Given the description of an element on the screen output the (x, y) to click on. 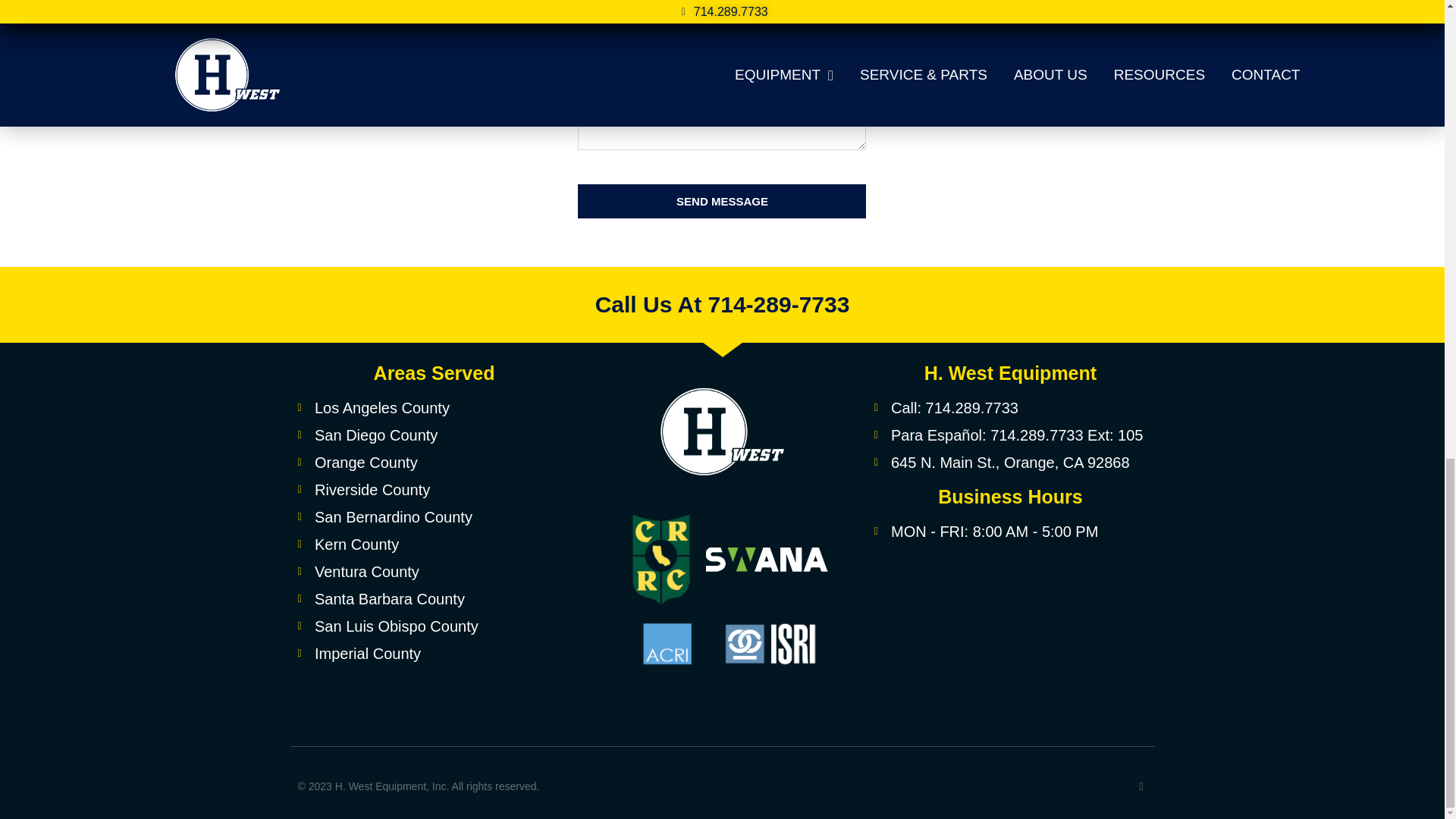
645 N. Main Street, Orange, CA 92868 (1010, 632)
